Given the description of an element on the screen output the (x, y) to click on. 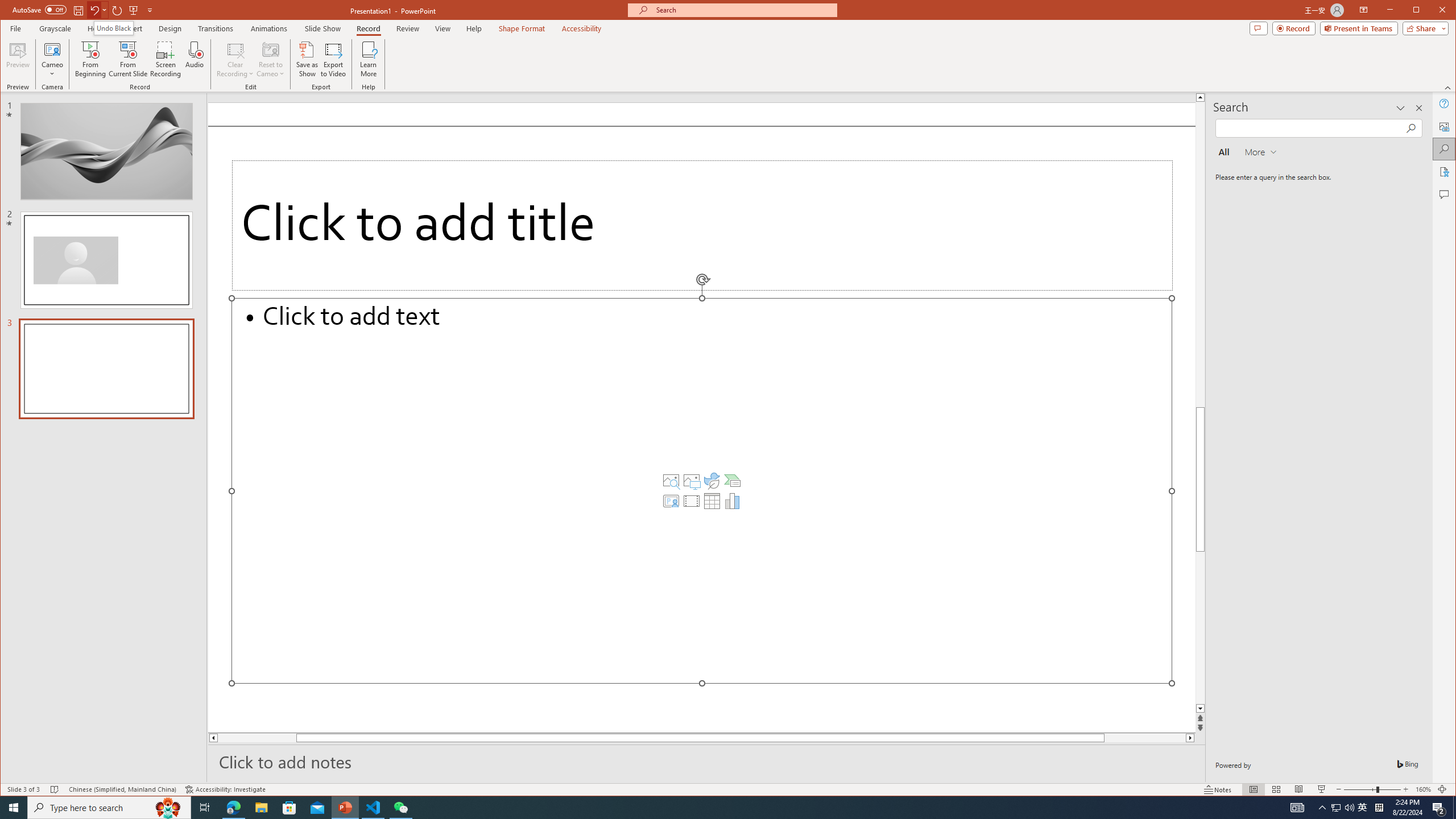
Start (13, 807)
AutomationID: 4105 (1297, 807)
Search highlights icon opens search home window (167, 807)
From Beginning... (90, 59)
Accessibility Checker Accessibility: Investigate (225, 789)
Preview (17, 59)
Microsoft Edge - 1 running window (233, 807)
Insert Cameo (670, 501)
